Given the description of an element on the screen output the (x, y) to click on. 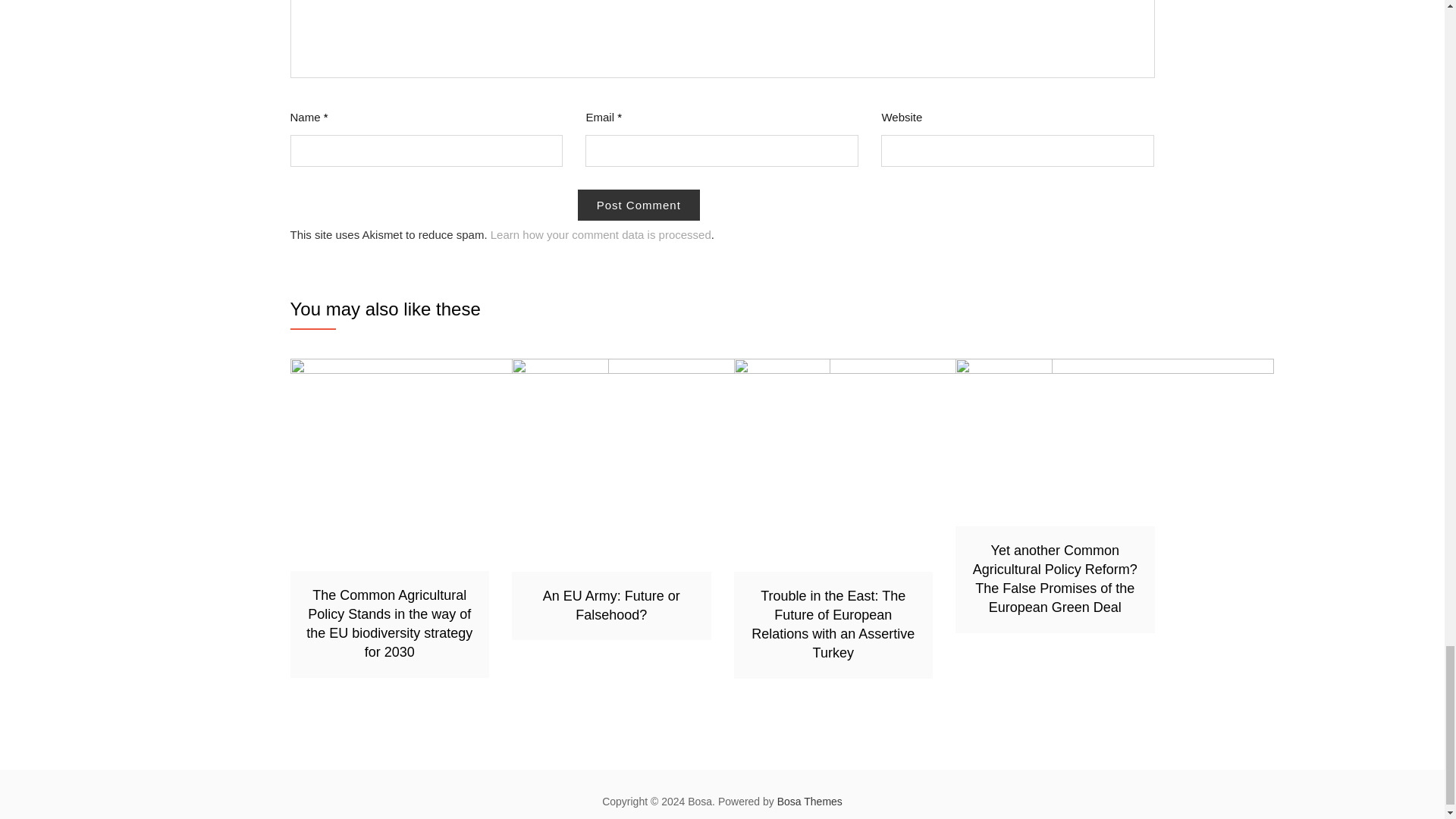
Post Comment (639, 204)
